Given the description of an element on the screen output the (x, y) to click on. 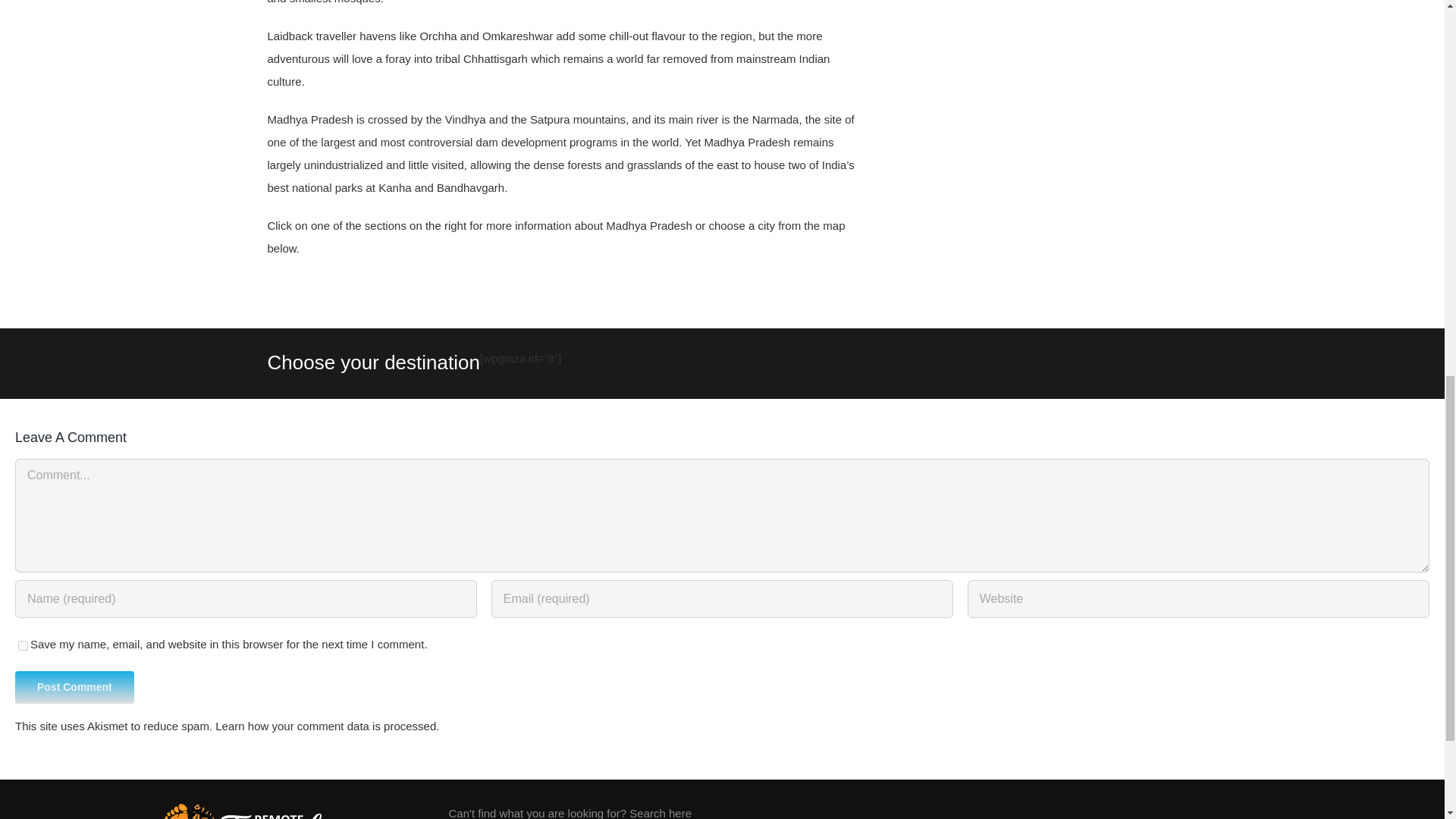
Post Comment (73, 686)
yes (22, 645)
